Given the description of an element on the screen output the (x, y) to click on. 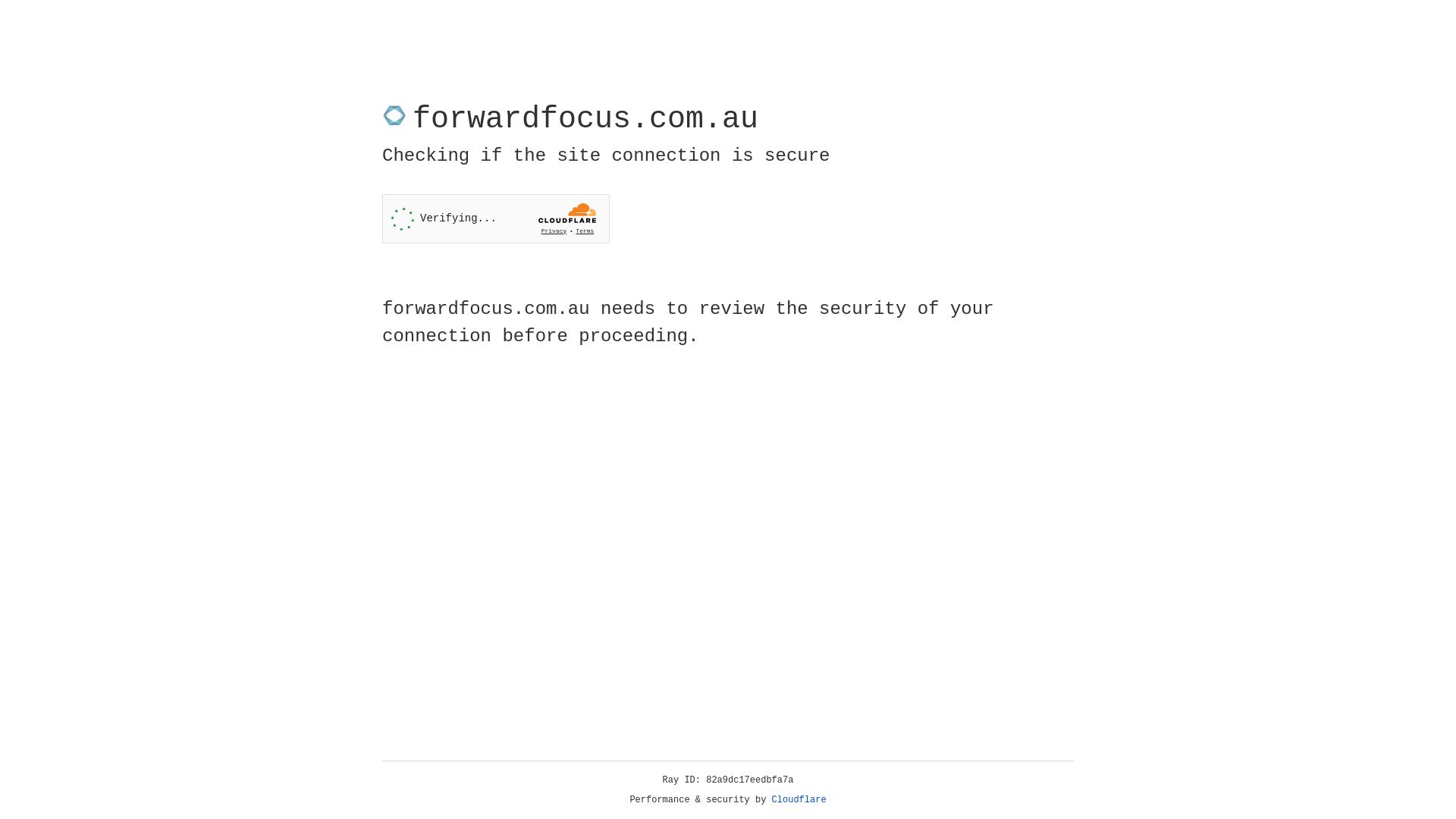
Cloudflare Element type: text (798, 799)
Widget containing a Cloudflare security challenge Element type: hover (495, 218)
